Given the description of an element on the screen output the (x, y) to click on. 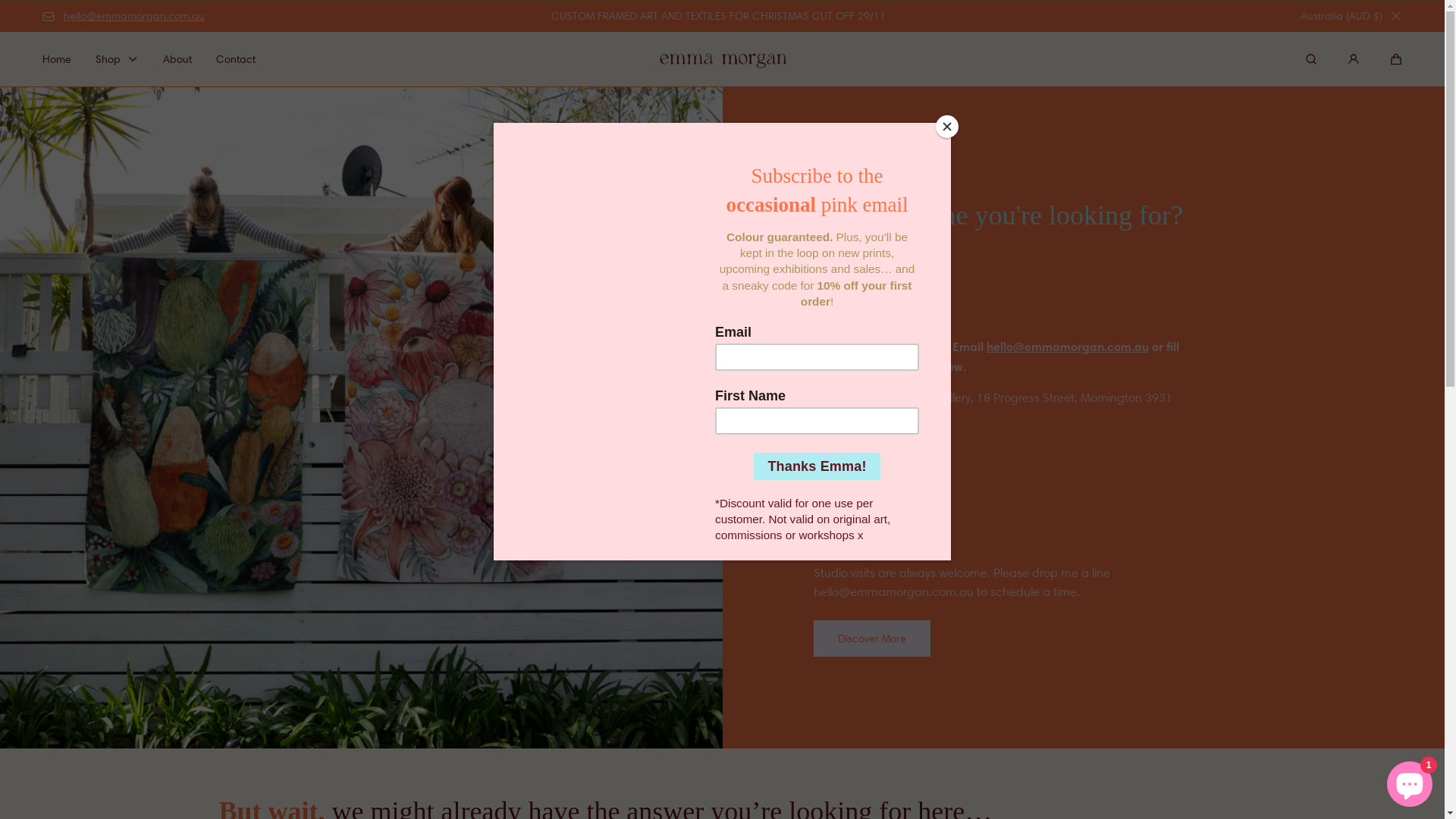
Shop Element type: text (116, 58)
About Element type: text (177, 58)
Emma Morgan Element type: text (722, 59)
Contact Element type: text (235, 58)
Home Element type: text (56, 58)
Cart Element type: text (1396, 59)
hello@emmamorgan.com.au Element type: text (1066, 346)
Shopify online store chat Element type: hover (1409, 780)
hello@emmamorgan.com.au Element type: text (123, 15)
Discover More Element type: text (870, 638)
Australia (AUD $) Element type: text (1341, 15)
Sign in Element type: hover (1353, 59)
